Given the description of an element on the screen output the (x, y) to click on. 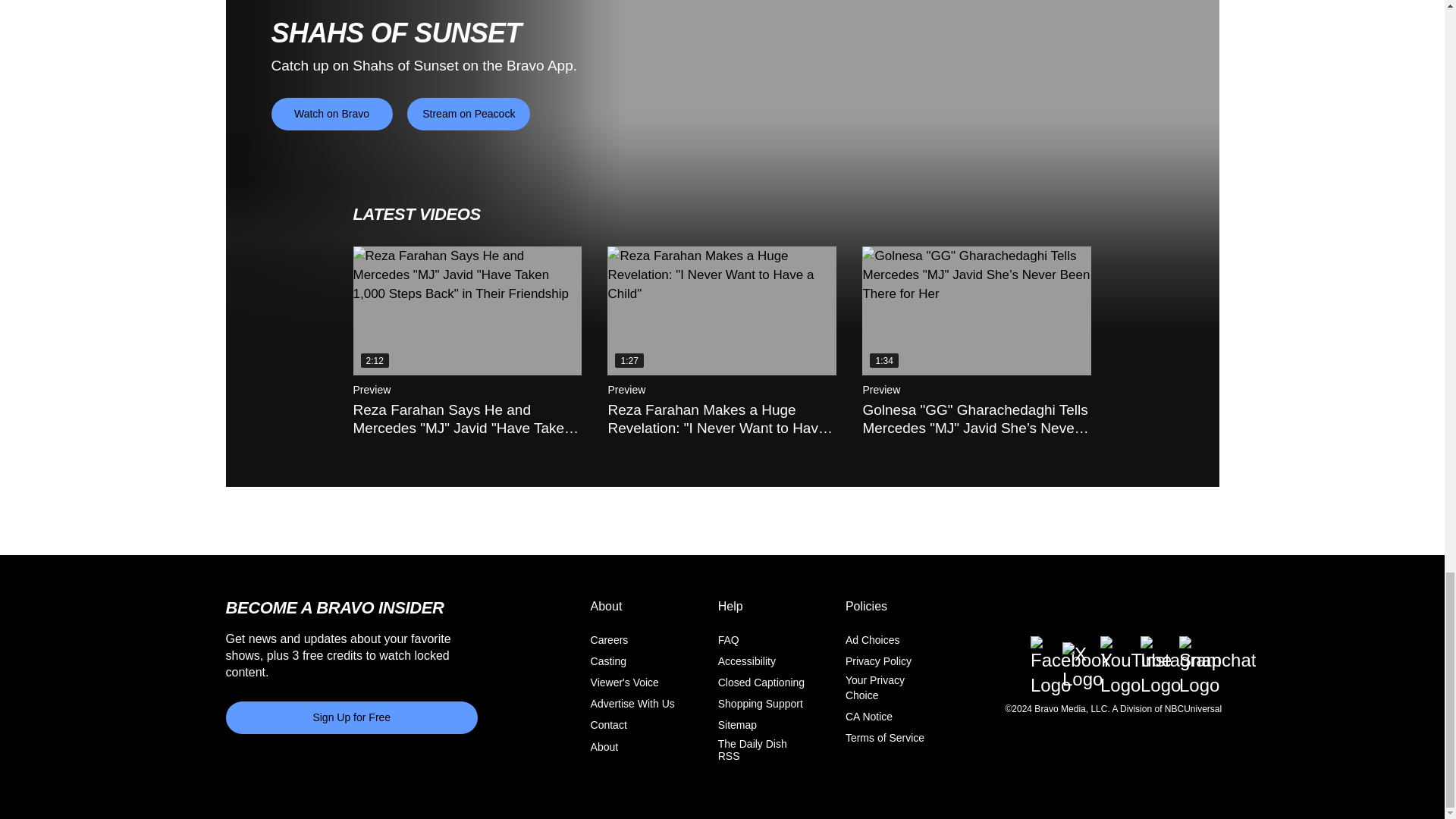
Advertise With Us (633, 704)
